Given the description of an element on the screen output the (x, y) to click on. 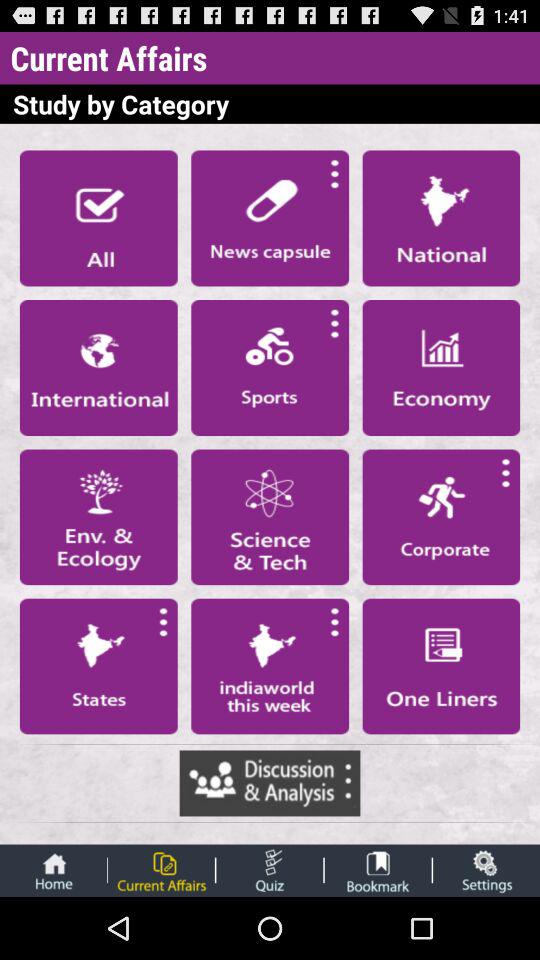
take quiz (269, 870)
